Given the description of an element on the screen output the (x, y) to click on. 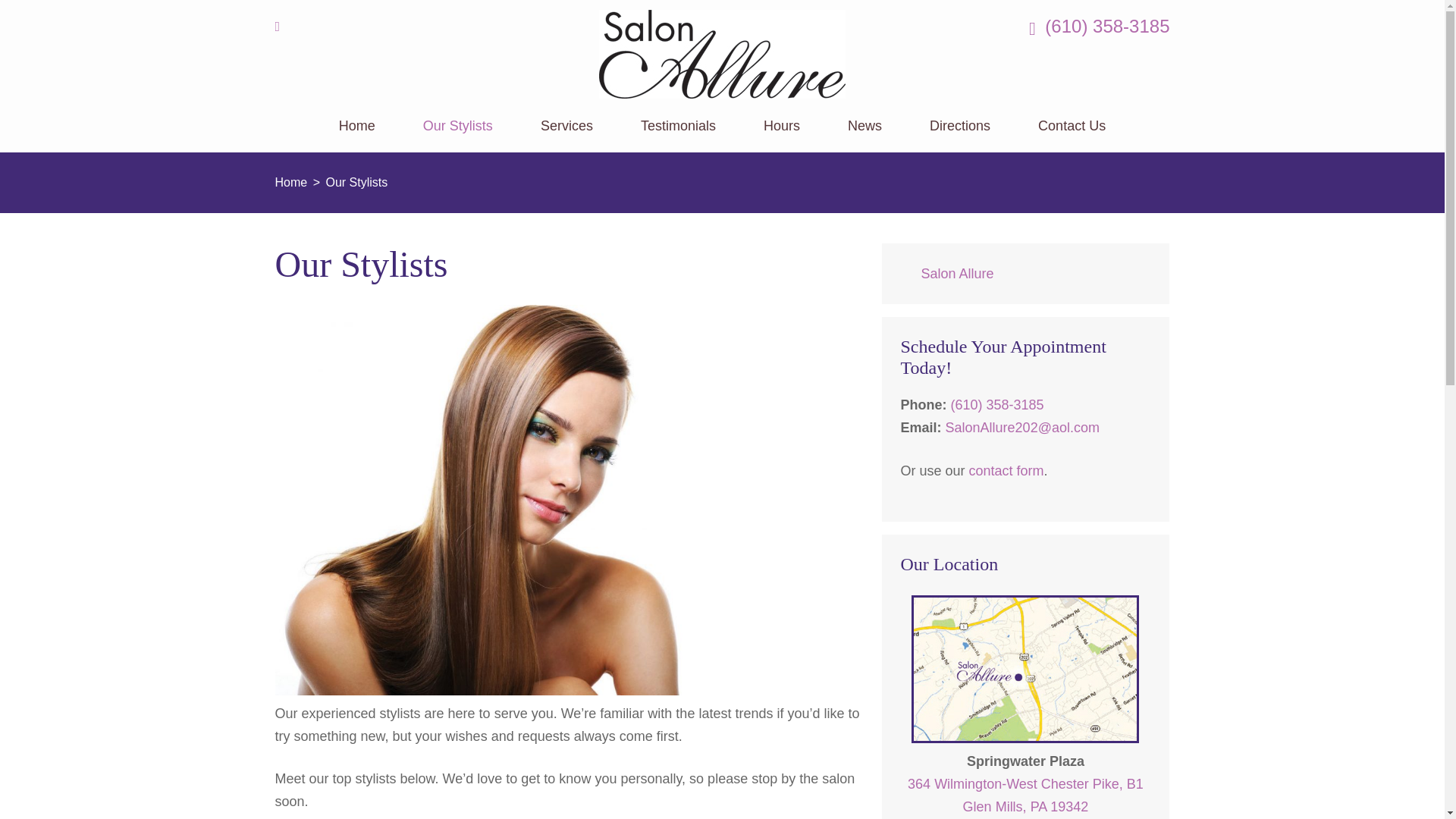
contact form (1006, 470)
Home (291, 182)
Our Stylists (458, 134)
Directions (960, 134)
Salon Allure (956, 273)
Salon Allure (331, 117)
News (864, 134)
Services (566, 134)
Hours (780, 134)
Testimonials (678, 134)
Home (1024, 795)
Contact Us (357, 134)
